Given the description of an element on the screen output the (x, y) to click on. 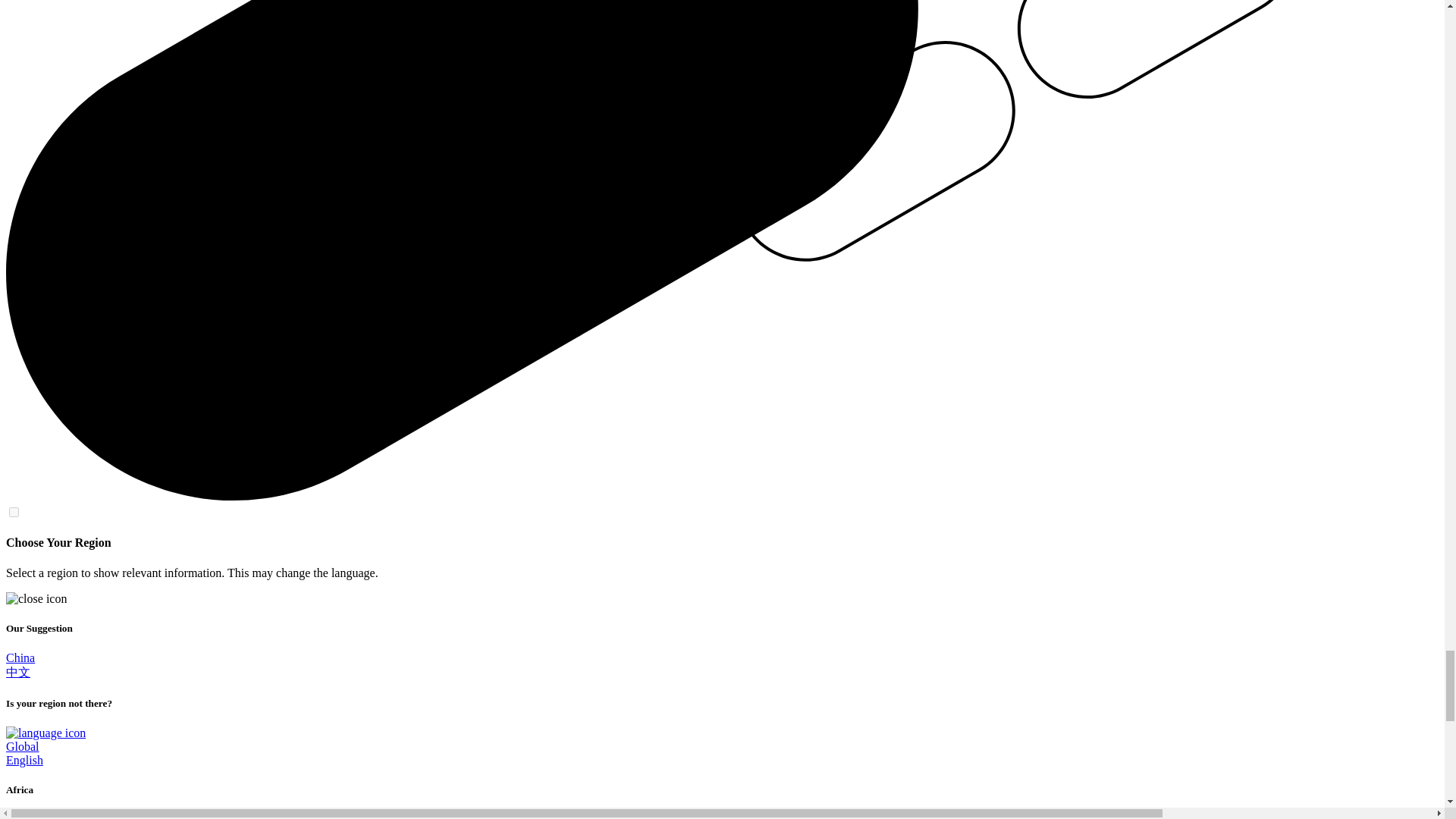
on (13, 511)
